Given the description of an element on the screen output the (x, y) to click on. 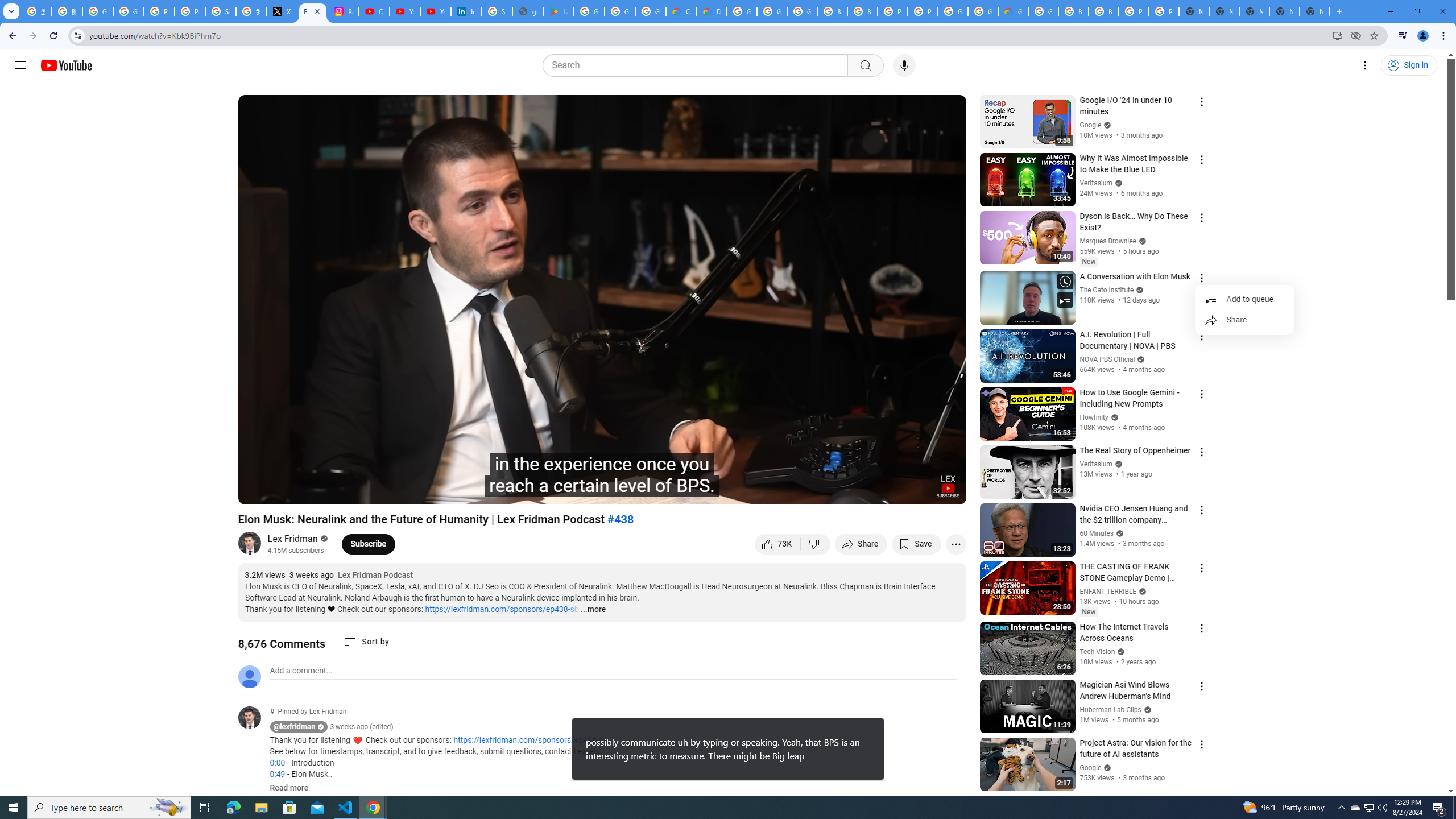
AutomationID: simplebox-placeholder (301, 670)
Mute (m) (312, 490)
Privacy Help Center - Policies Help (189, 11)
X (282, 11)
Privacy Help Center - Policies Help (158, 11)
Install YouTube (1336, 35)
